Given the description of an element on the screen output the (x, y) to click on. 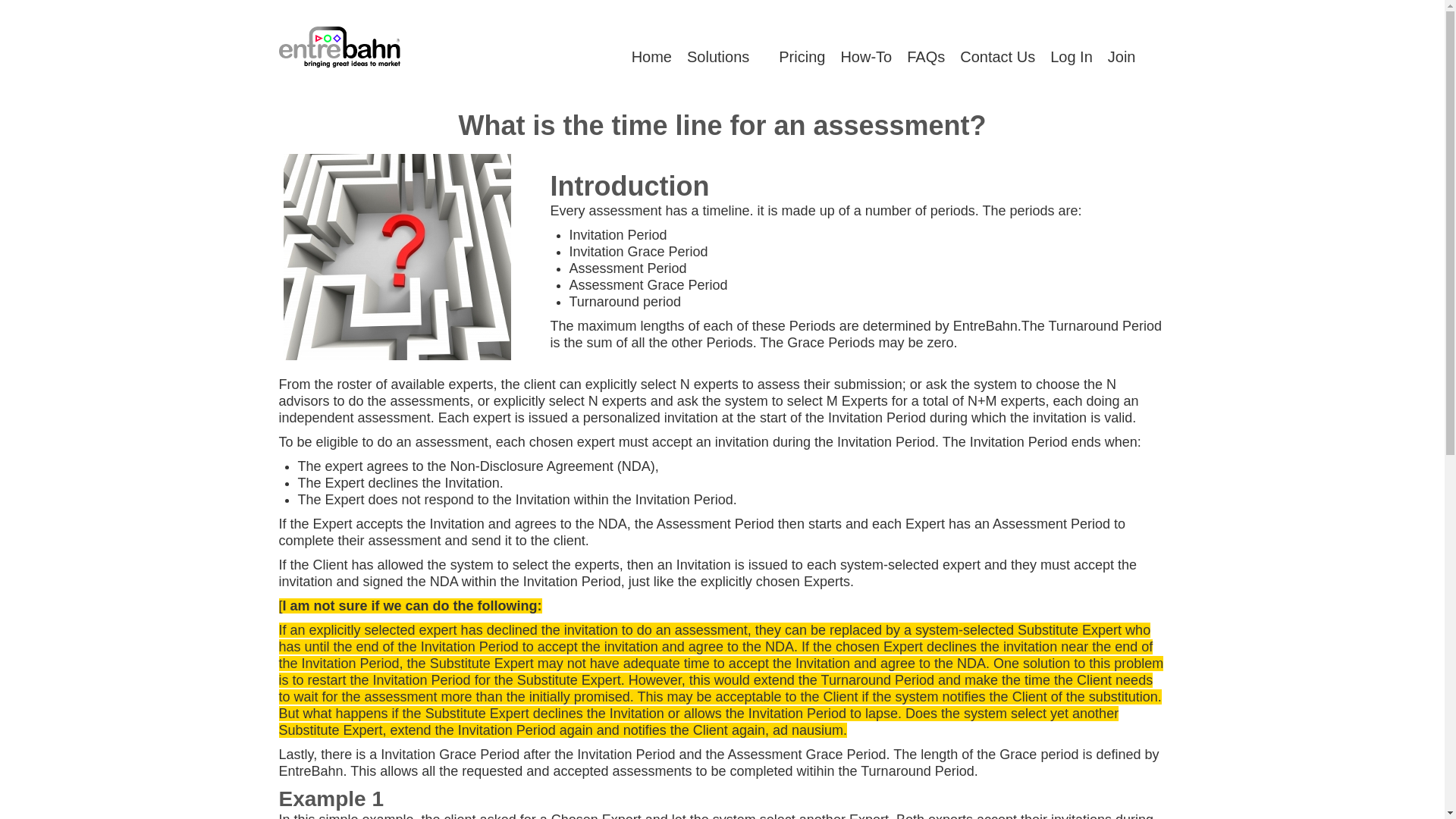
Home (651, 56)
Join (1121, 56)
Solutions offered by experts. (725, 56)
FAQs (925, 56)
How-To (865, 56)
Solutions (725, 56)
Picture representing general FAQs (404, 264)
Main front page (651, 56)
Log In (1071, 56)
